Given the description of an element on the screen output the (x, y) to click on. 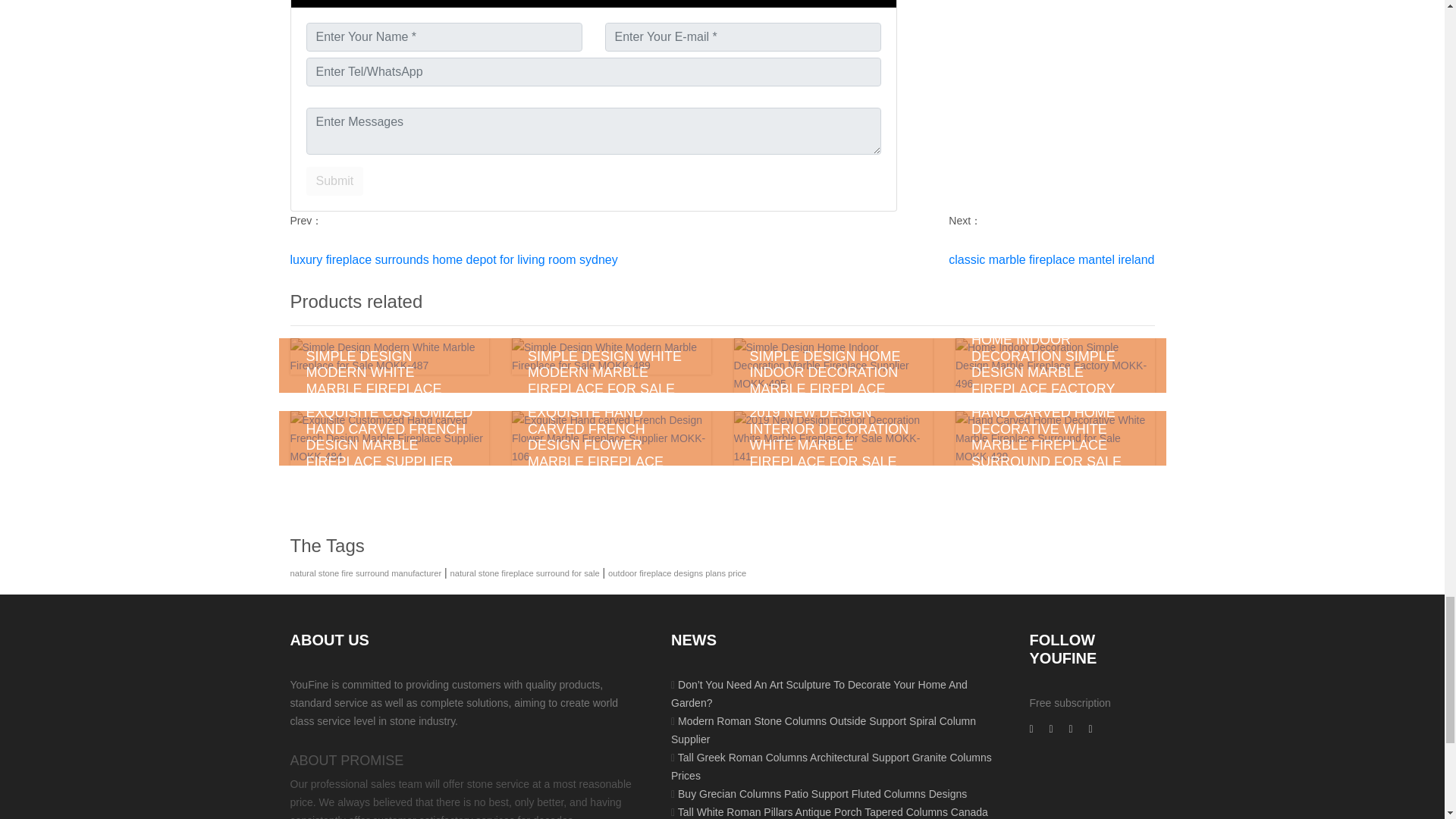
classic marble fireplace mantel ireland (1051, 259)
